Given the description of an element on the screen output the (x, y) to click on. 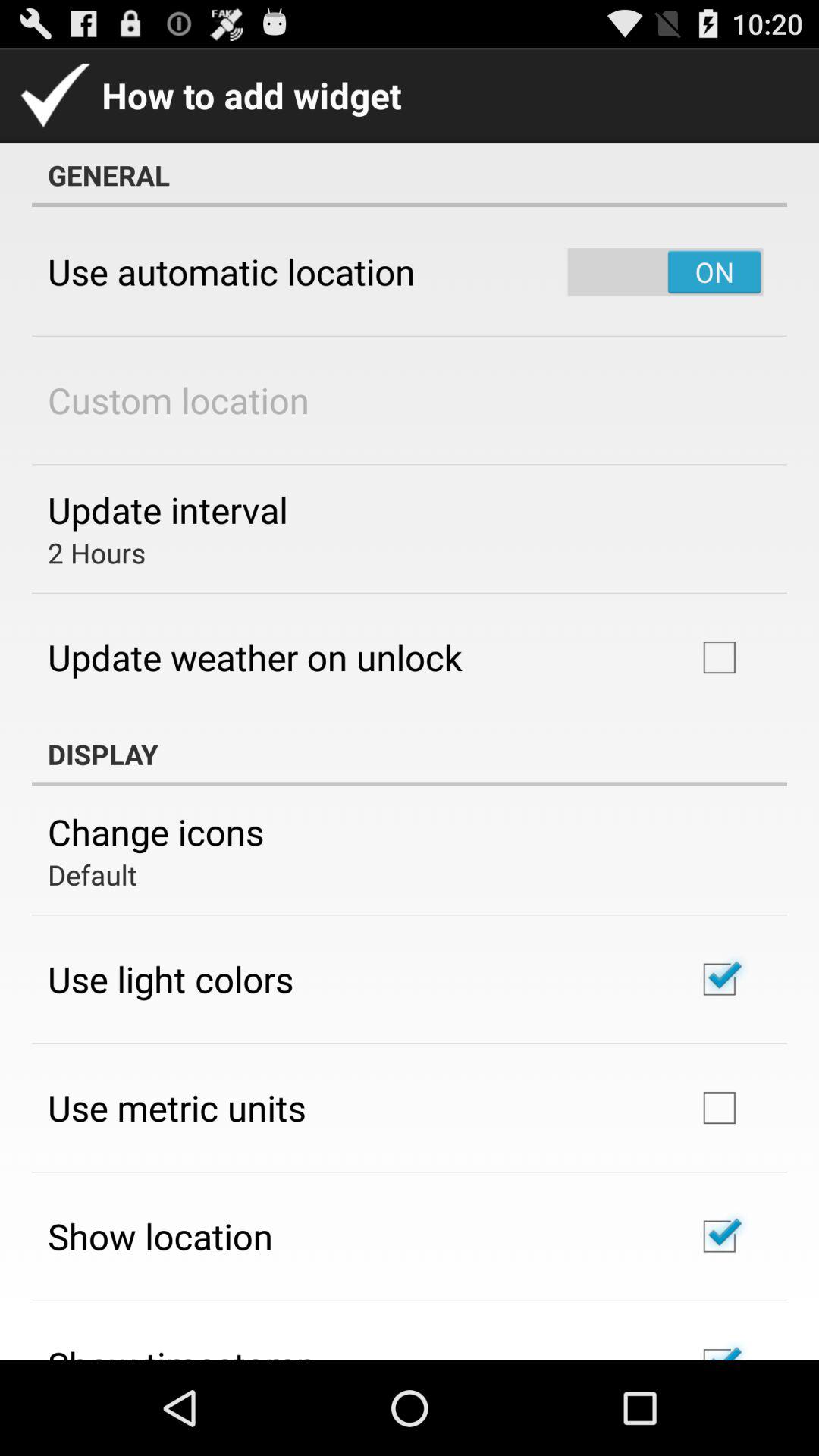
click the default app (92, 874)
